Given the description of an element on the screen output the (x, y) to click on. 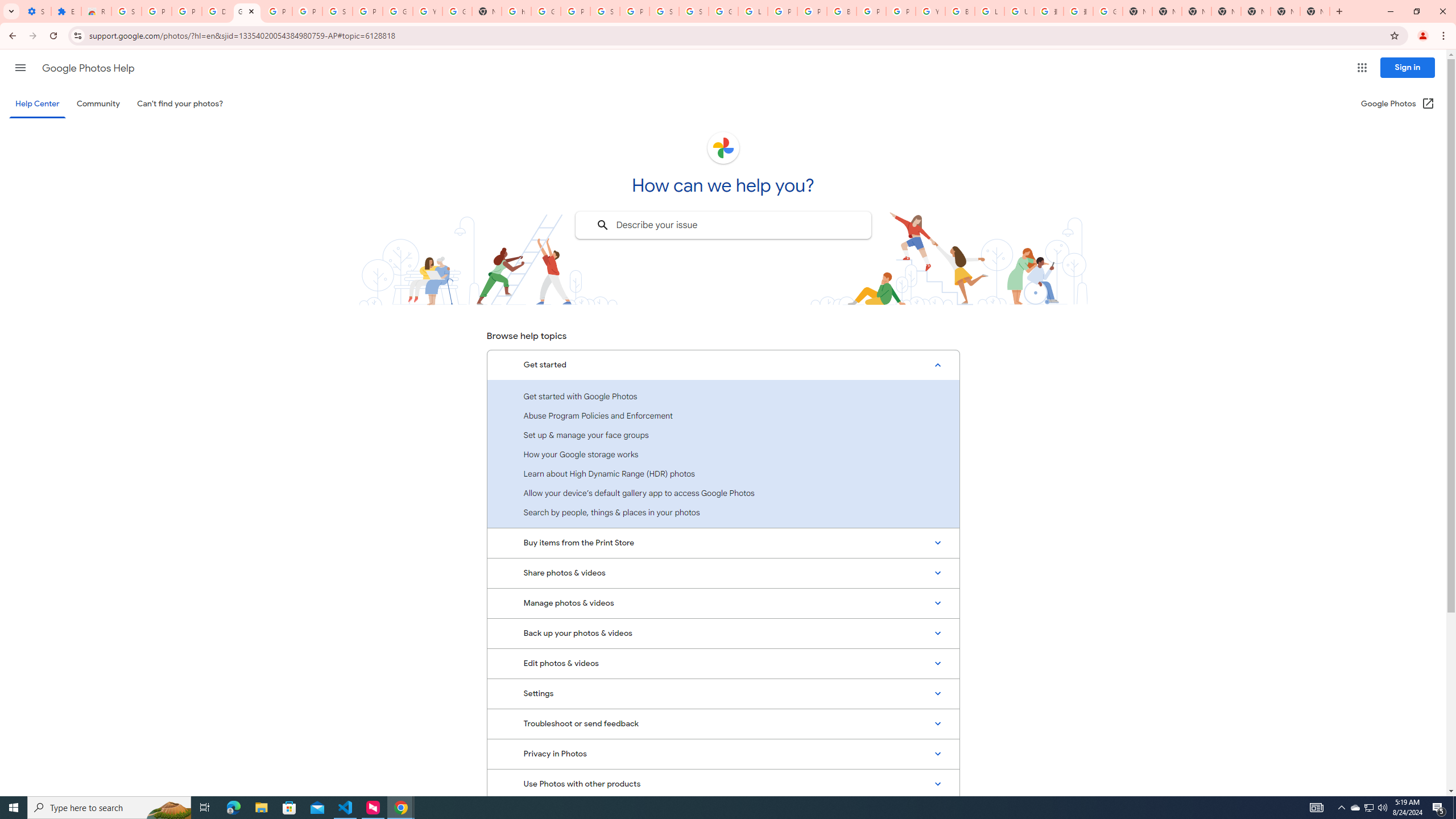
Settings - On startup (36, 11)
Share photos & videos (722, 573)
Buy items from the Print Store (722, 542)
Community (97, 103)
Privacy Help Center - Policies Help (782, 11)
Get started with Google Photos (722, 396)
Google Photos Help (87, 68)
New Tab (1314, 11)
